Given the description of an element on the screen output the (x, y) to click on. 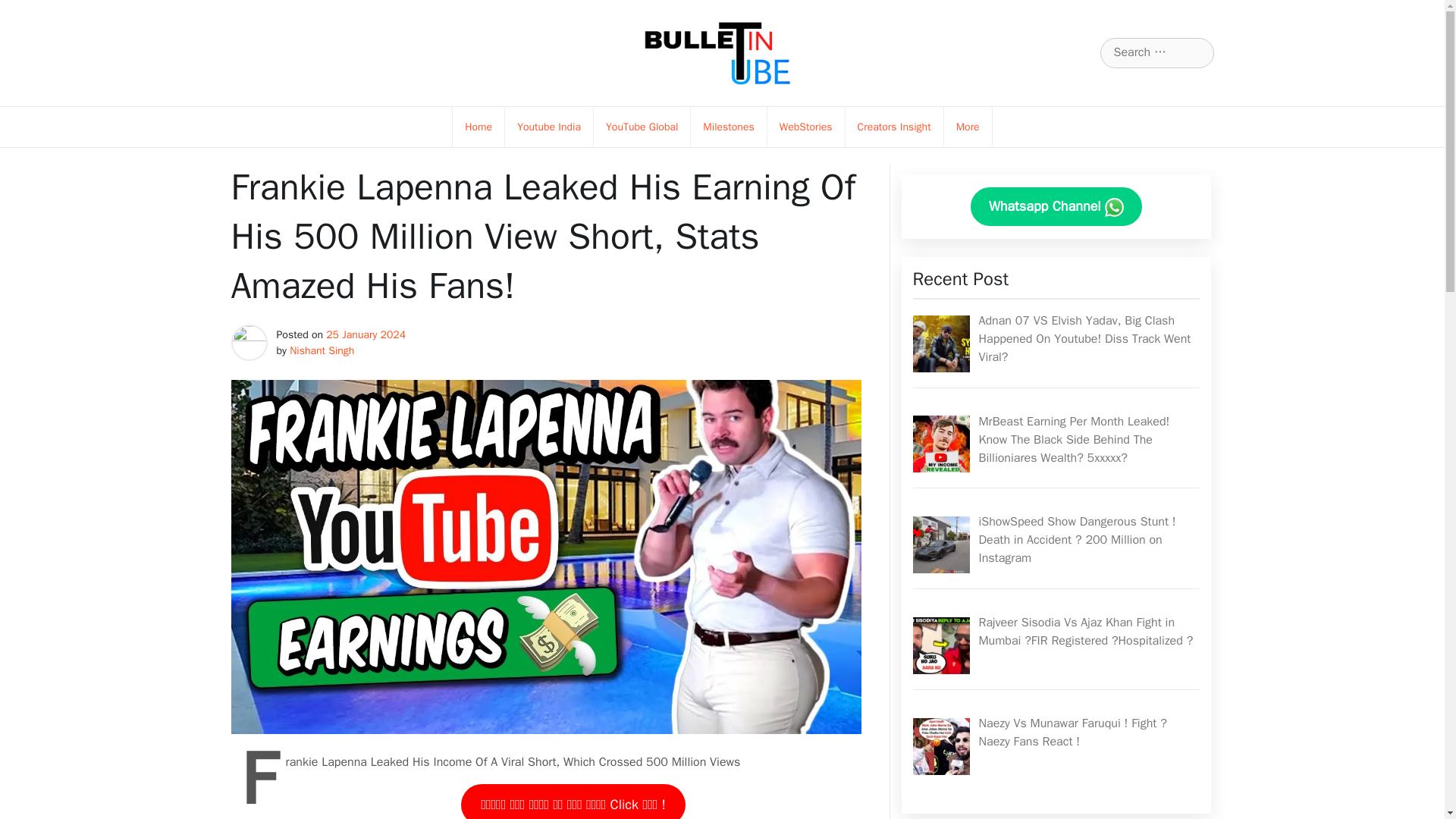
Search (31, 12)
YouTube Global (641, 127)
Youtube India (548, 127)
Whatsapp Channel (1055, 206)
Creators Insight (894, 127)
25 January 2024 (366, 334)
Milestones (728, 127)
Nishant Singh (321, 350)
Bulletintube (637, 106)
WebStories (805, 127)
